Given the description of an element on the screen output the (x, y) to click on. 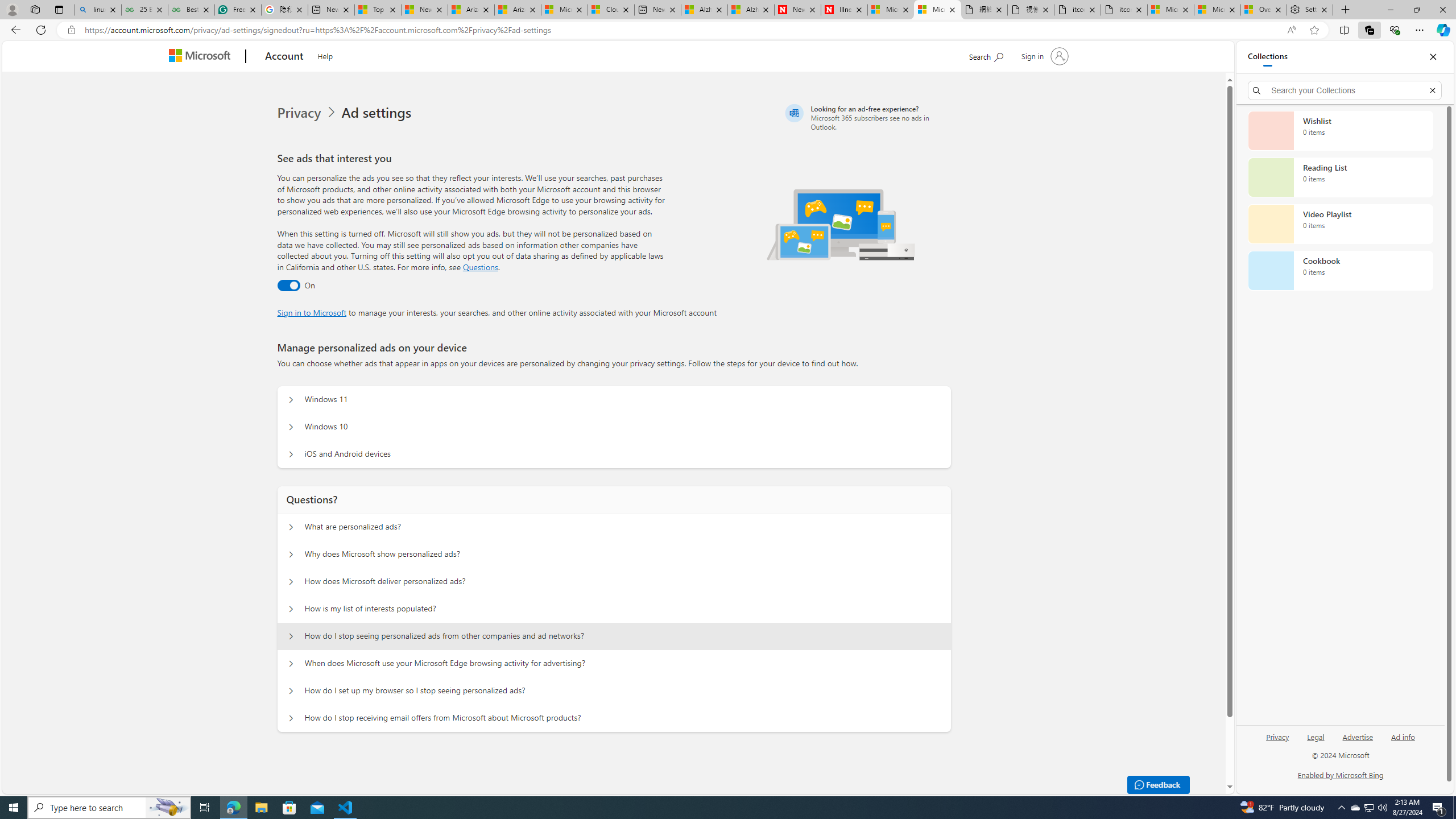
25 Basic Linux Commands For Beginners - GeeksforGeeks (144, 9)
Go to Questions section (480, 266)
Sign in to Microsoft (311, 311)
